Given the description of an element on the screen output the (x, y) to click on. 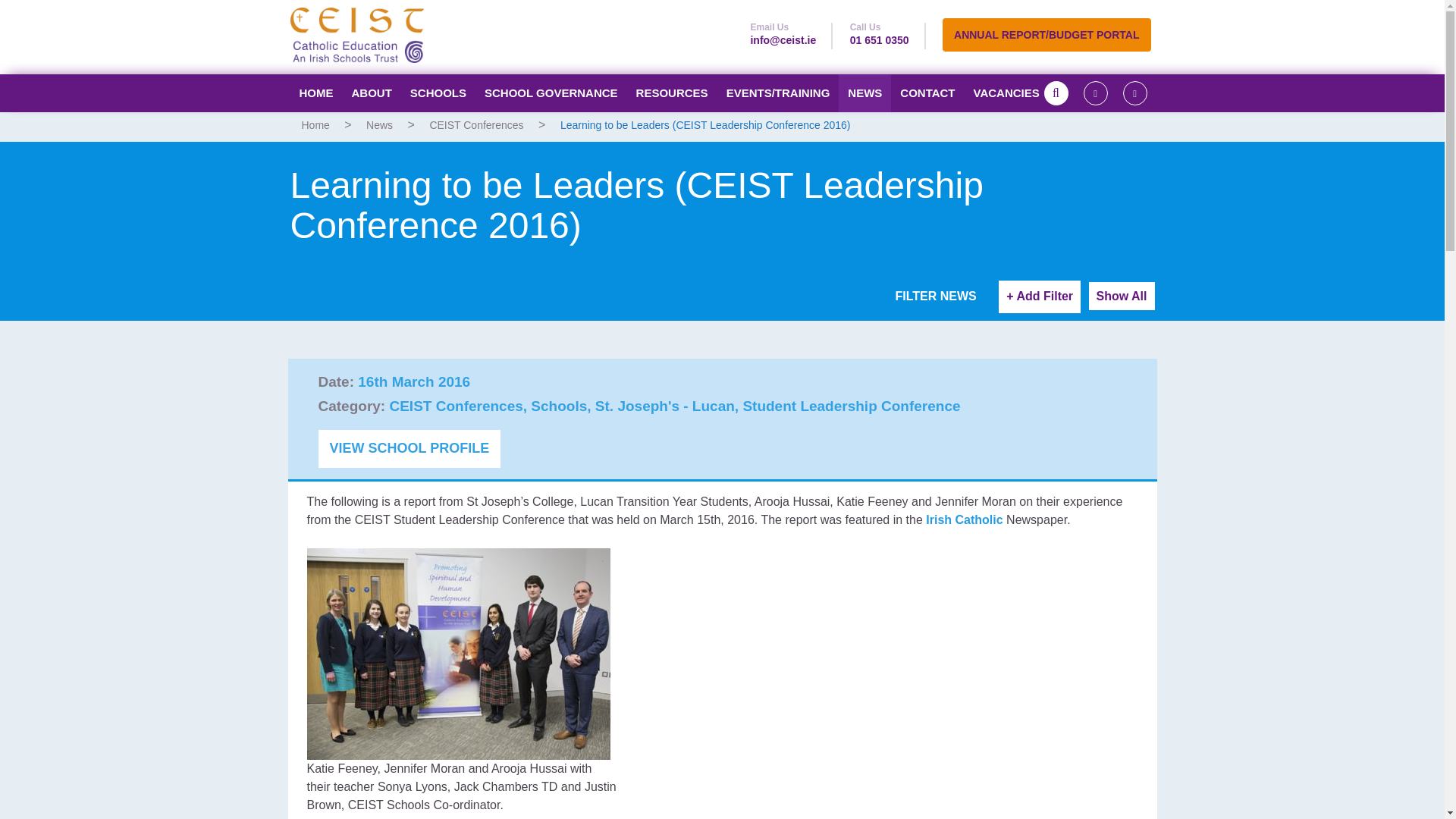
Instagram (1134, 93)
SCHOOL GOVERNANCE (551, 93)
HOME (315, 93)
Twitter (1094, 93)
01 651 0350 (879, 39)
ABOUT (371, 93)
SCHOOLS (438, 93)
